Given the description of an element on the screen output the (x, y) to click on. 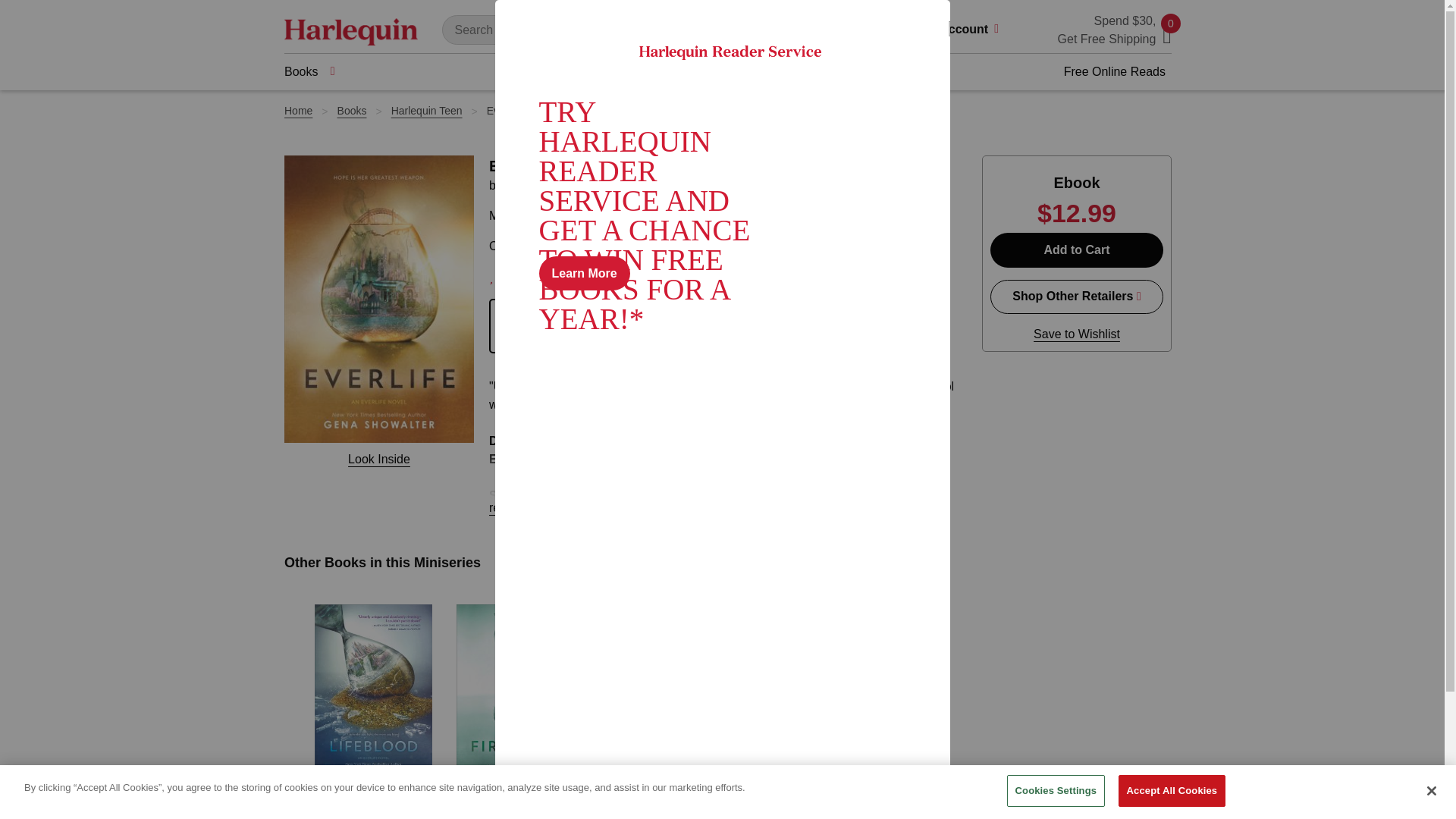
Account (974, 30)
See all reviews on Goodreads (714, 277)
See ratings and reviews (520, 276)
Harlequin home (350, 30)
Search for other content by Gena Showalter (548, 185)
Search for other content by Gena Showalter (380, 814)
Books (308, 72)
Search for other content by Gena Showalter (522, 814)
